Given the description of an element on the screen output the (x, y) to click on. 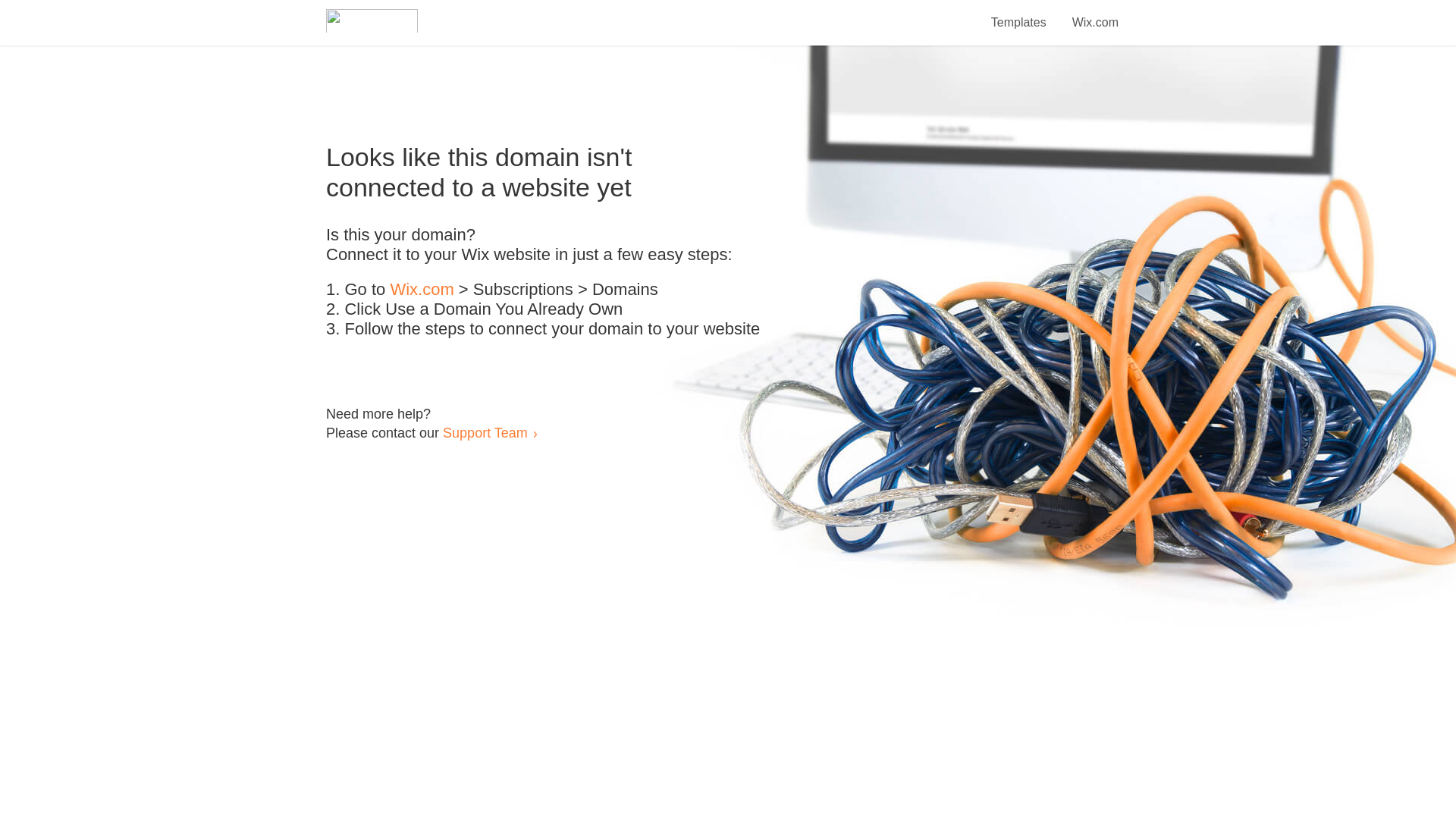
Wix.com (421, 289)
Wix.com (1095, 14)
Templates (1018, 14)
Support Team (484, 432)
